Given the description of an element on the screen output the (x, y) to click on. 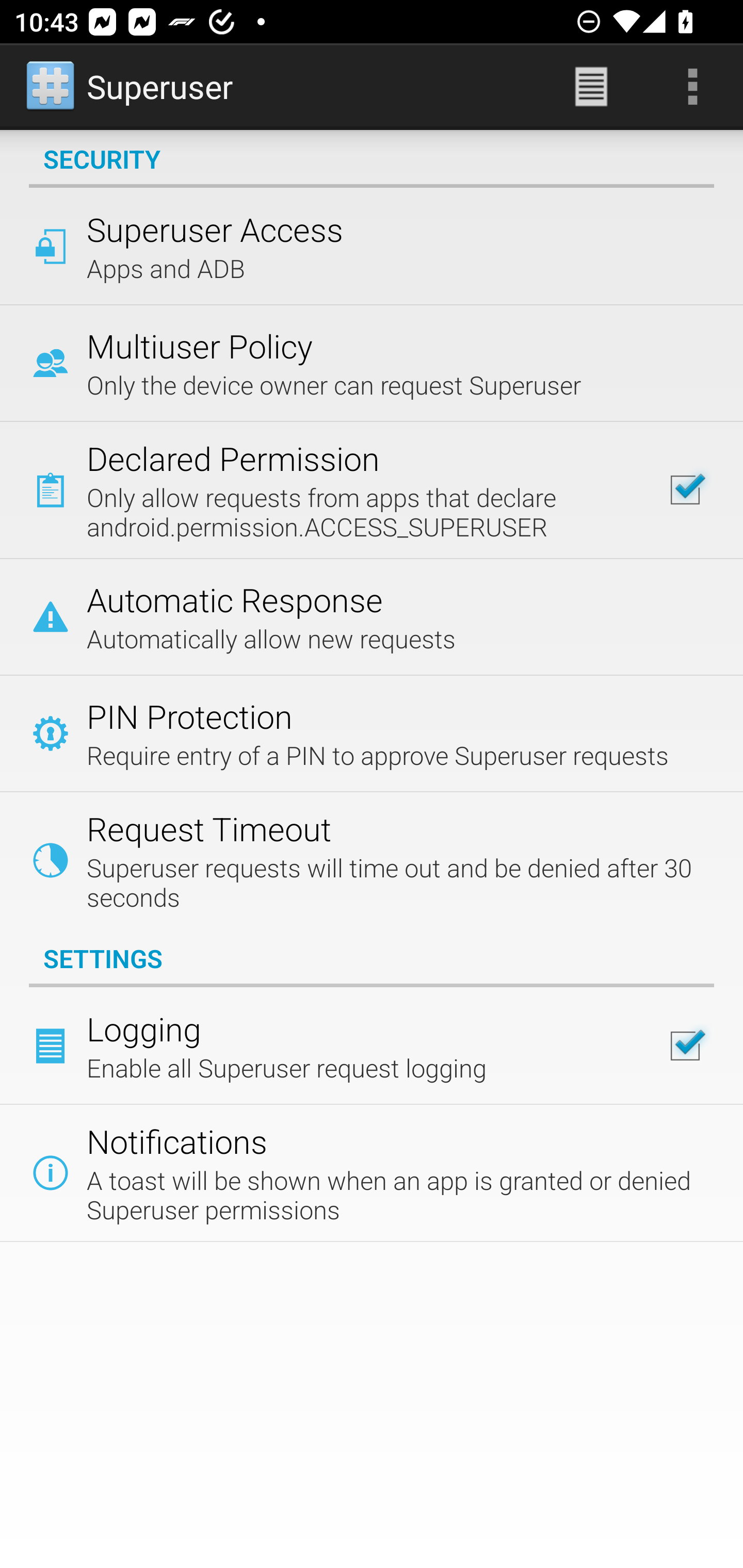
Superuser (130, 86)
Logs (590, 86)
More options (692, 86)
Superuser Access Apps and ADB (371, 246)
Logging Enable all Superuser request logging (371, 1045)
